Given the description of an element on the screen output the (x, y) to click on. 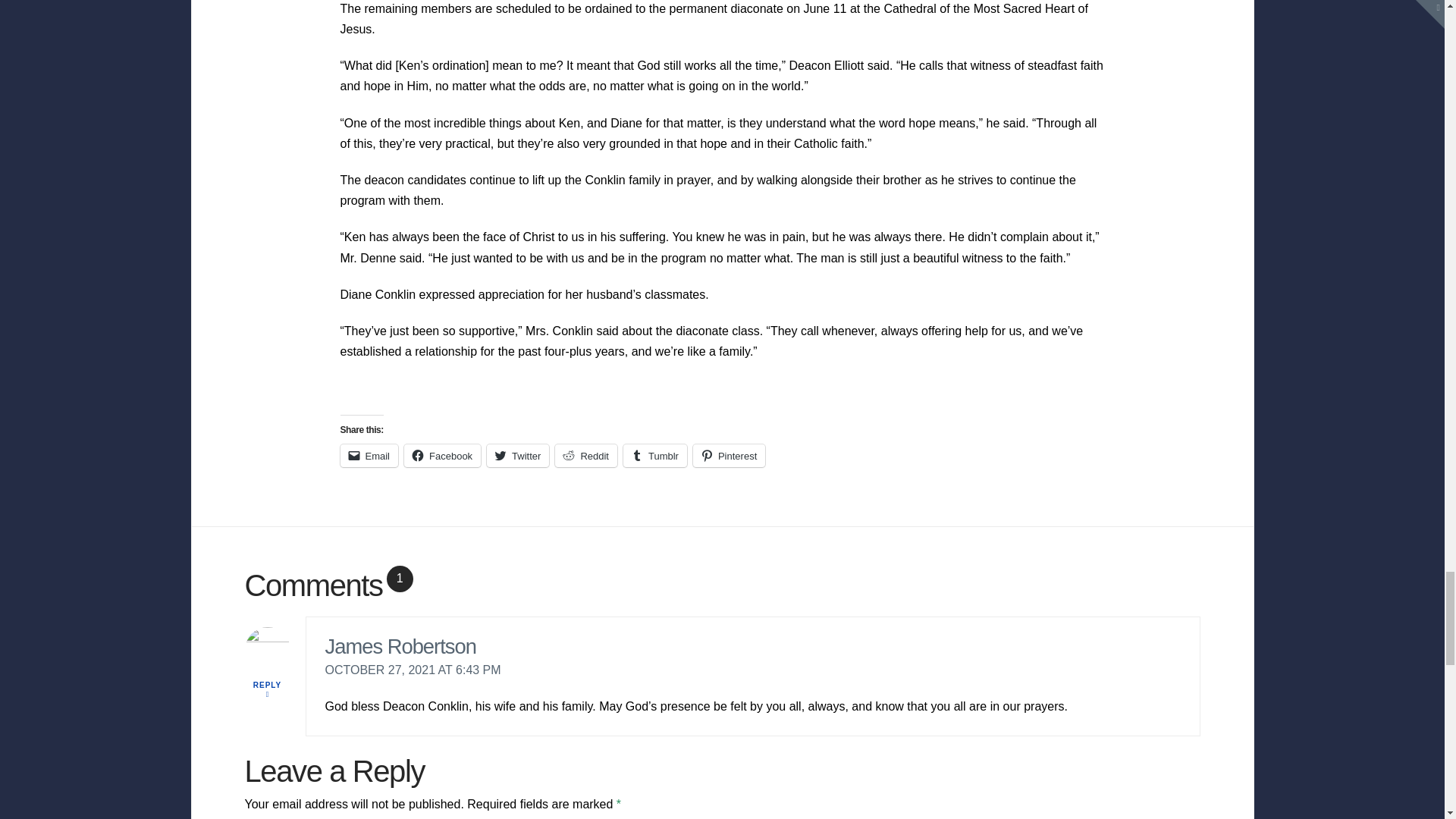
Click to share on Twitter (517, 455)
Click to share on Pinterest (729, 455)
Reddit (585, 455)
Facebook (442, 455)
Click to share on Tumblr (655, 455)
Click to share on Facebook (442, 455)
Click to share on Reddit (585, 455)
Email (368, 455)
Click to email a link to a friend (368, 455)
Twitter (517, 455)
